Given the description of an element on the screen output the (x, y) to click on. 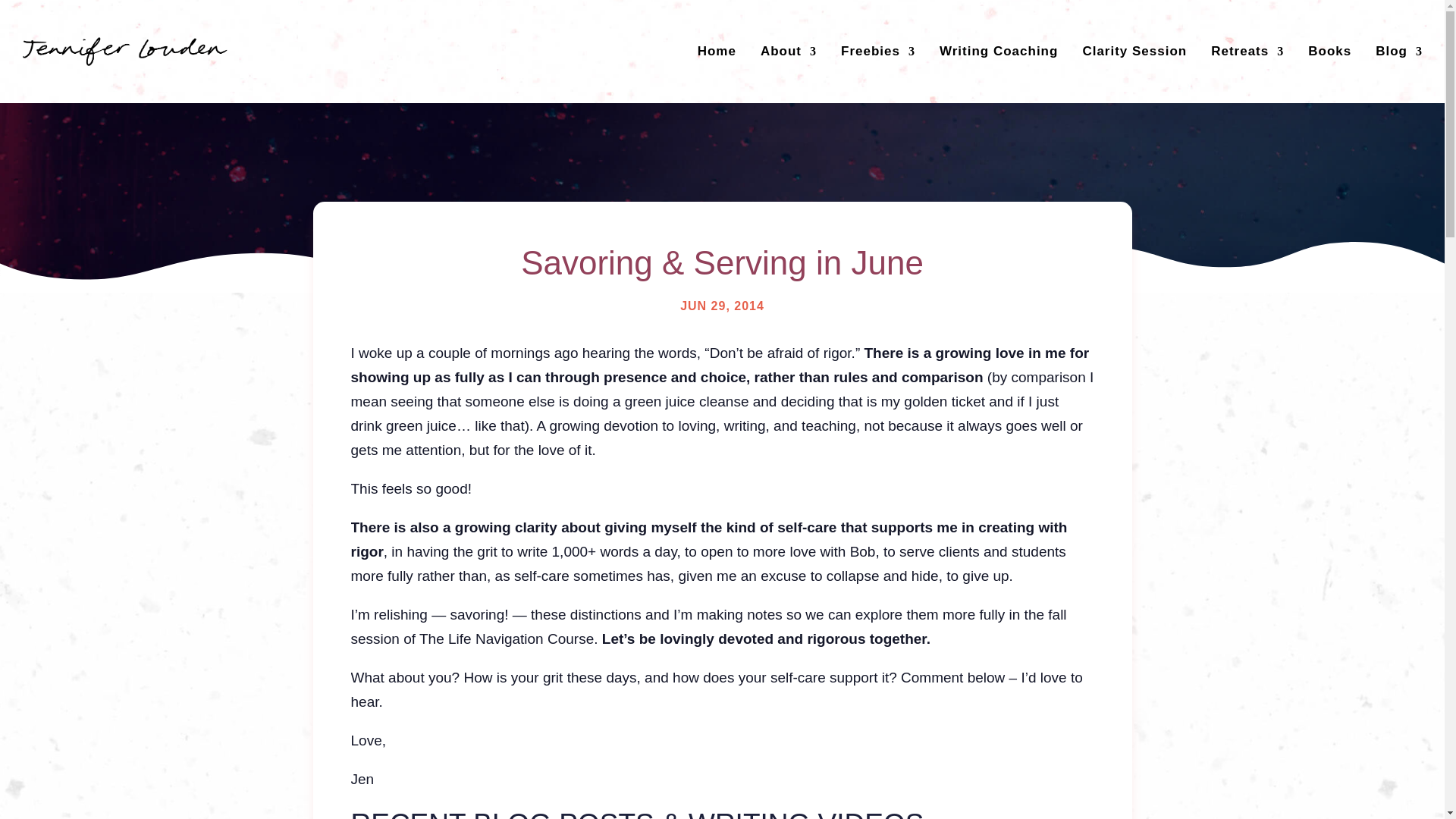
Retreats (1247, 51)
About (788, 51)
Clarity Session (1133, 51)
Freebies (878, 51)
Writing Coaching (998, 51)
